Given the description of an element on the screen output the (x, y) to click on. 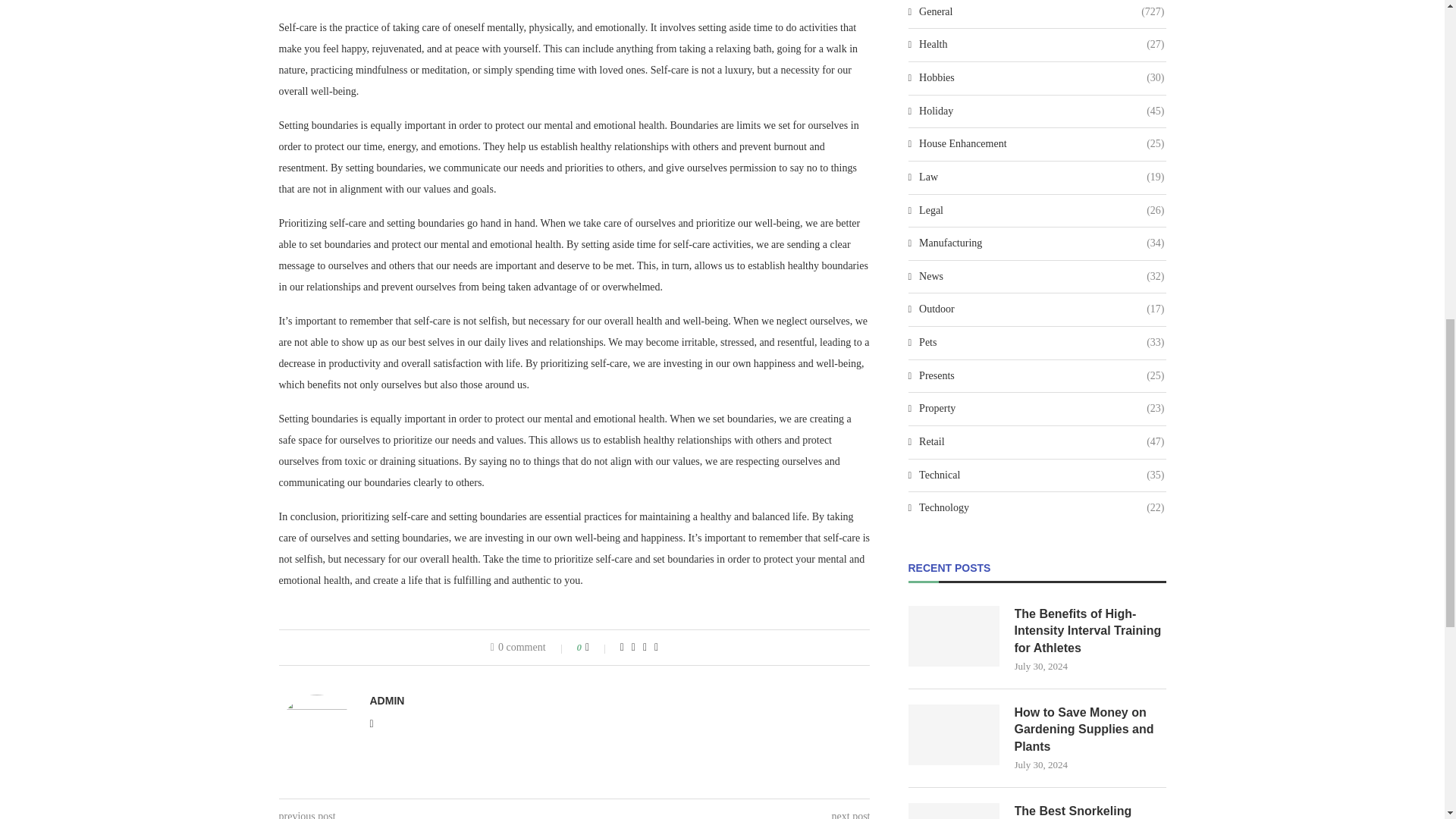
Like (597, 647)
ADMIN (386, 700)
Author admin (386, 700)
